Given the description of an element on the screen output the (x, y) to click on. 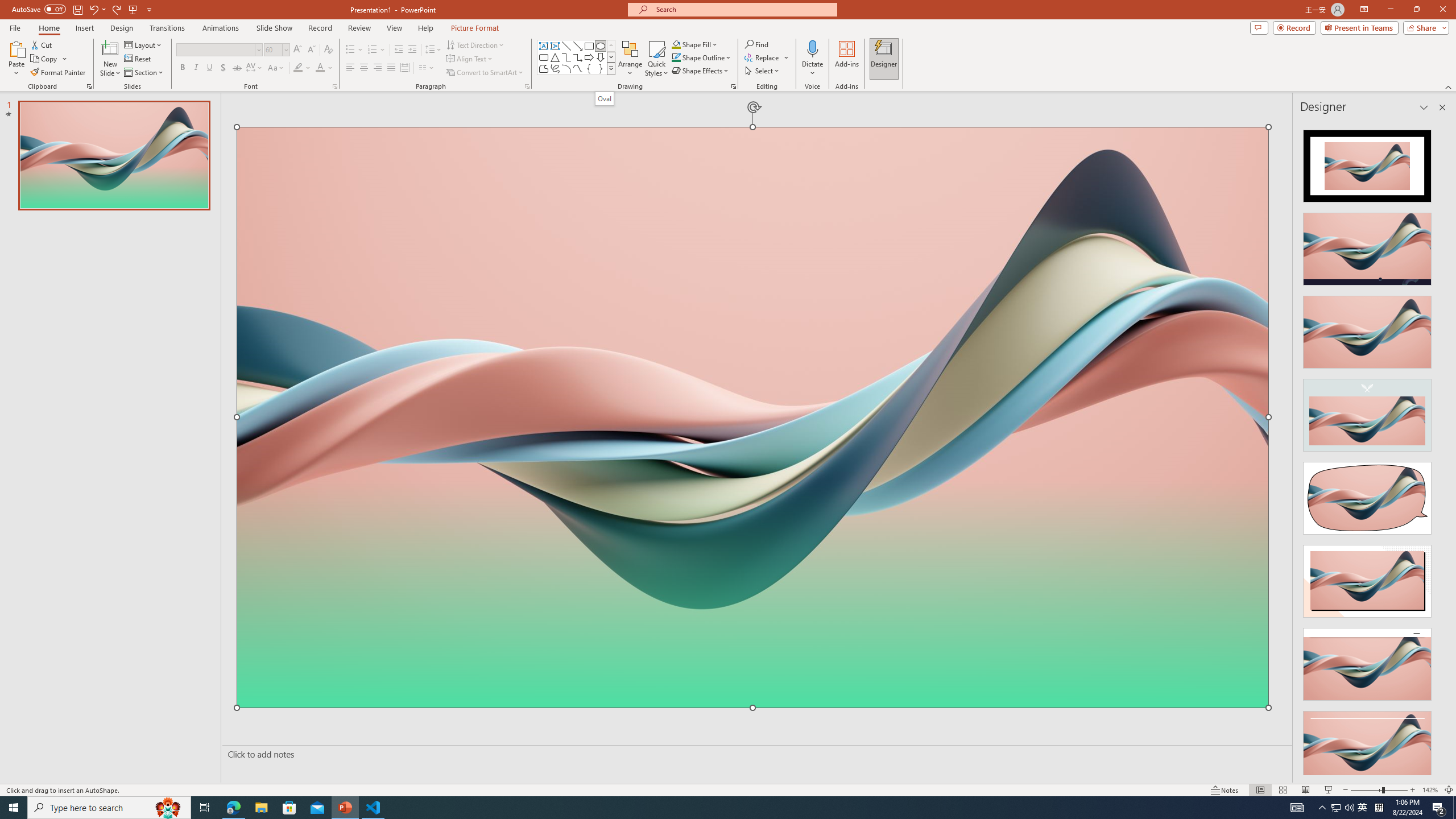
Decorative Locked (752, 575)
